Given the description of an element on the screen output the (x, y) to click on. 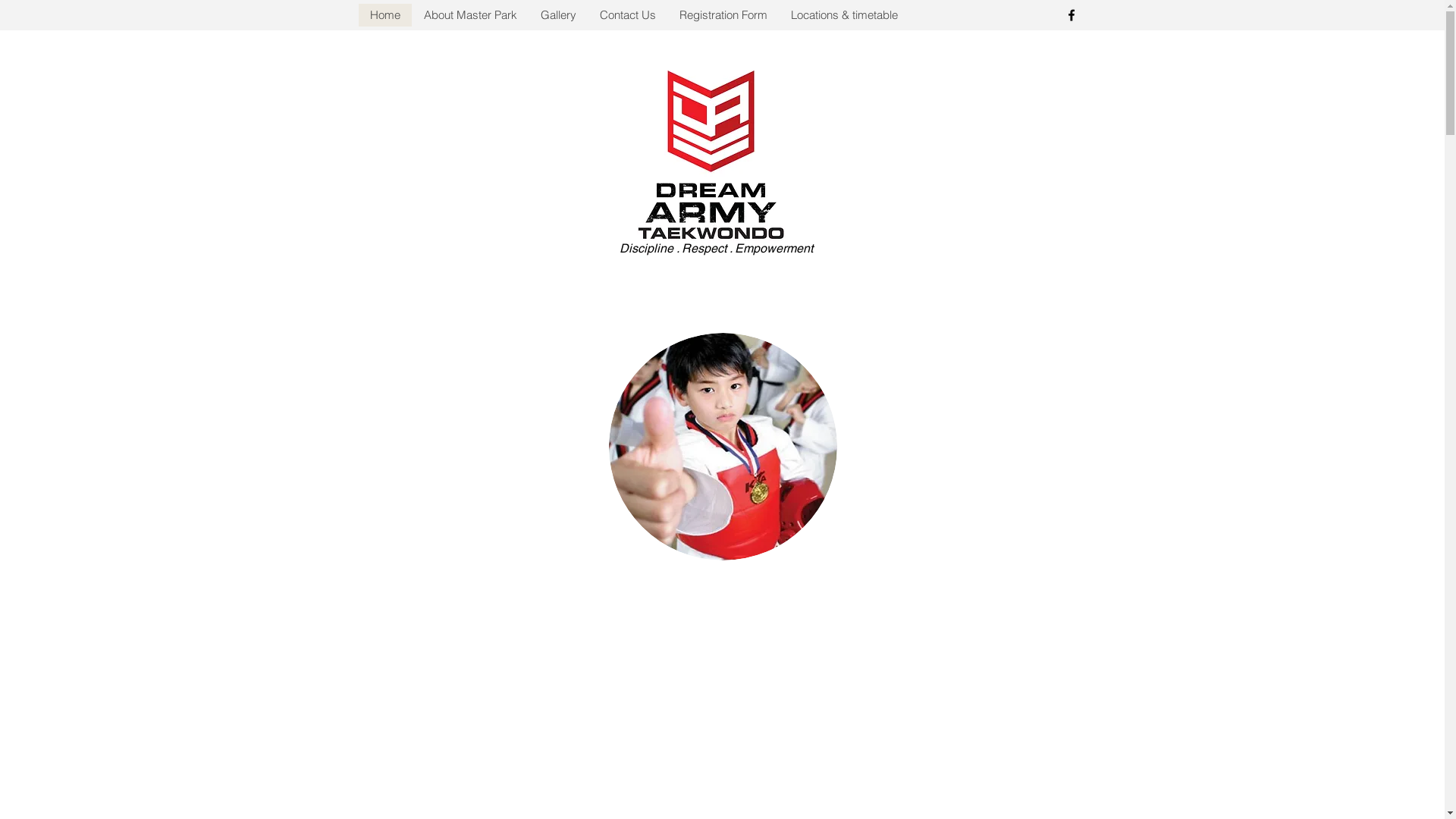
Locations & timetable Element type: text (843, 14)
Registration Form Element type: text (722, 14)
Gallery Element type: text (556, 14)
Home Element type: text (384, 14)
About Master Park Element type: text (469, 14)
Contact Us Element type: text (626, 14)
